Given the description of an element on the screen output the (x, y) to click on. 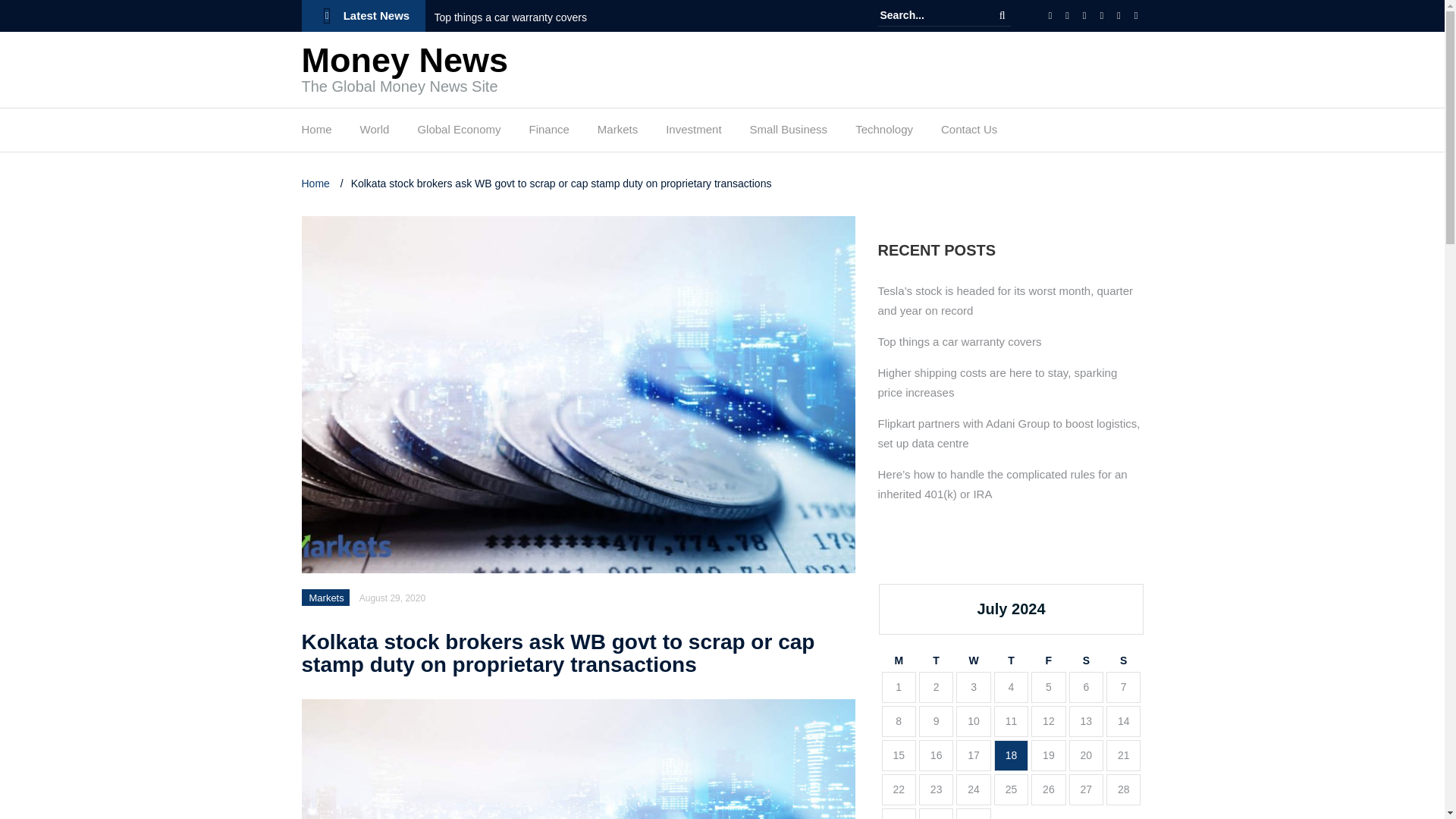
Finance (548, 133)
Technology (884, 133)
Friday (1047, 660)
Investment (692, 133)
Monday (897, 660)
Wednesday (973, 660)
Contact Us (968, 133)
Home (316, 133)
Global Economy (458, 133)
Sunday (1123, 660)
World (374, 133)
Thursday (1010, 660)
Small Business (788, 133)
Home (317, 183)
Saturday (1085, 660)
